Given the description of an element on the screen output the (x, y) to click on. 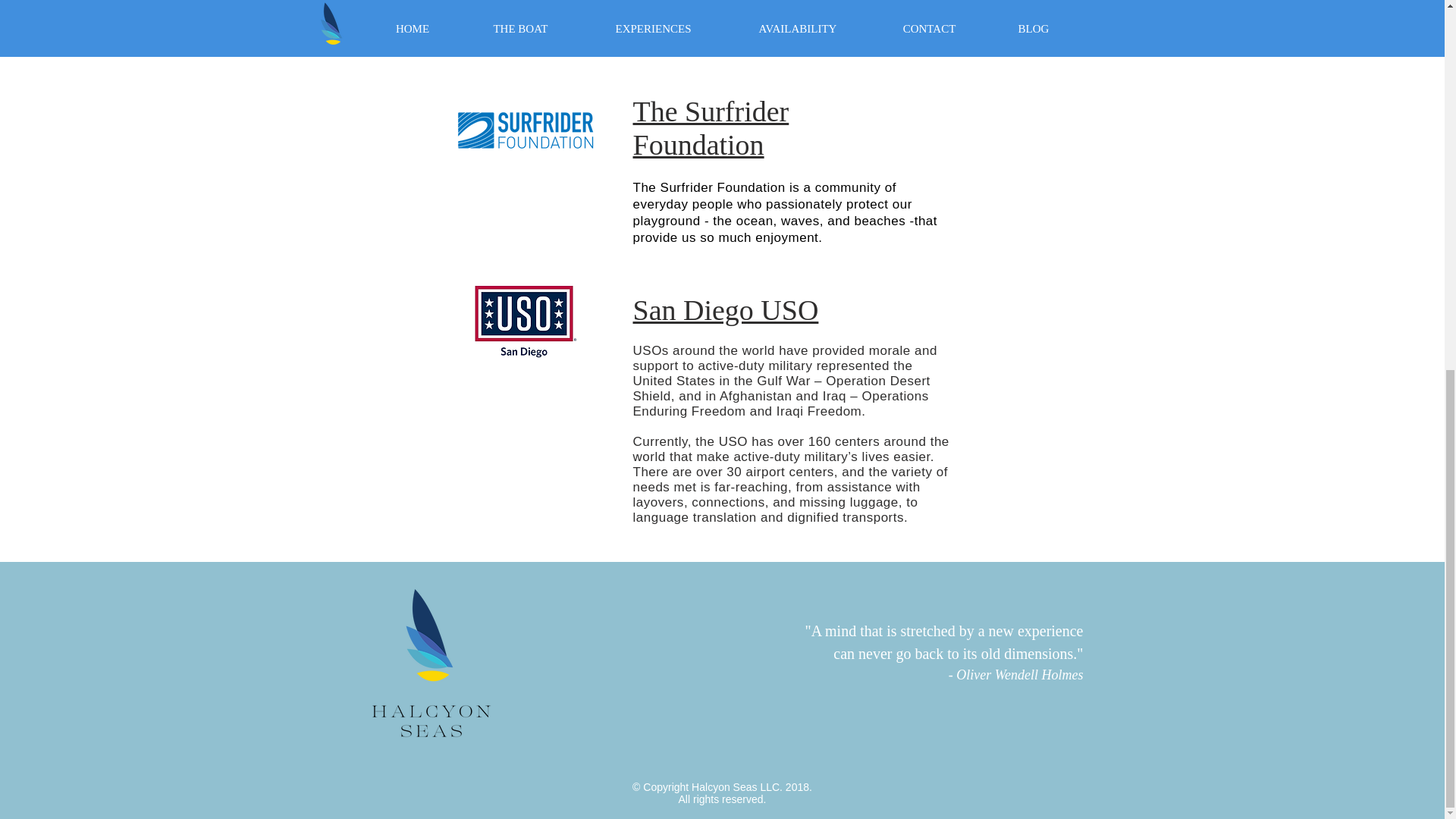
The Surfrider (710, 111)
San Diego USO (724, 309)
Foundation (696, 144)
